Given the description of an element on the screen output the (x, y) to click on. 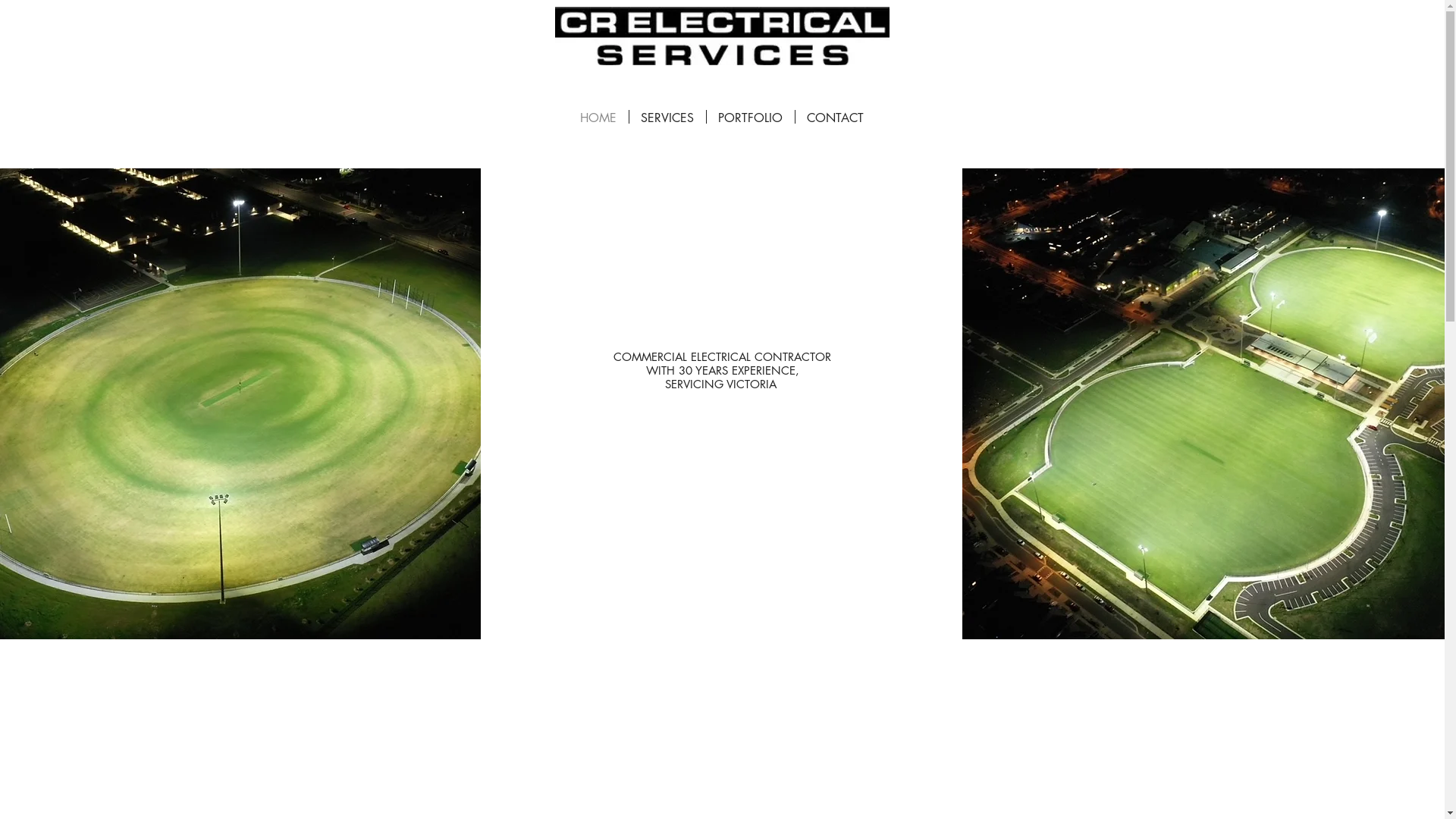
PORTFOLIO Element type: text (750, 116)
HOME Element type: text (598, 116)
CONTACT Element type: text (834, 116)
SERVICES Element type: text (667, 116)
